Given the description of an element on the screen output the (x, y) to click on. 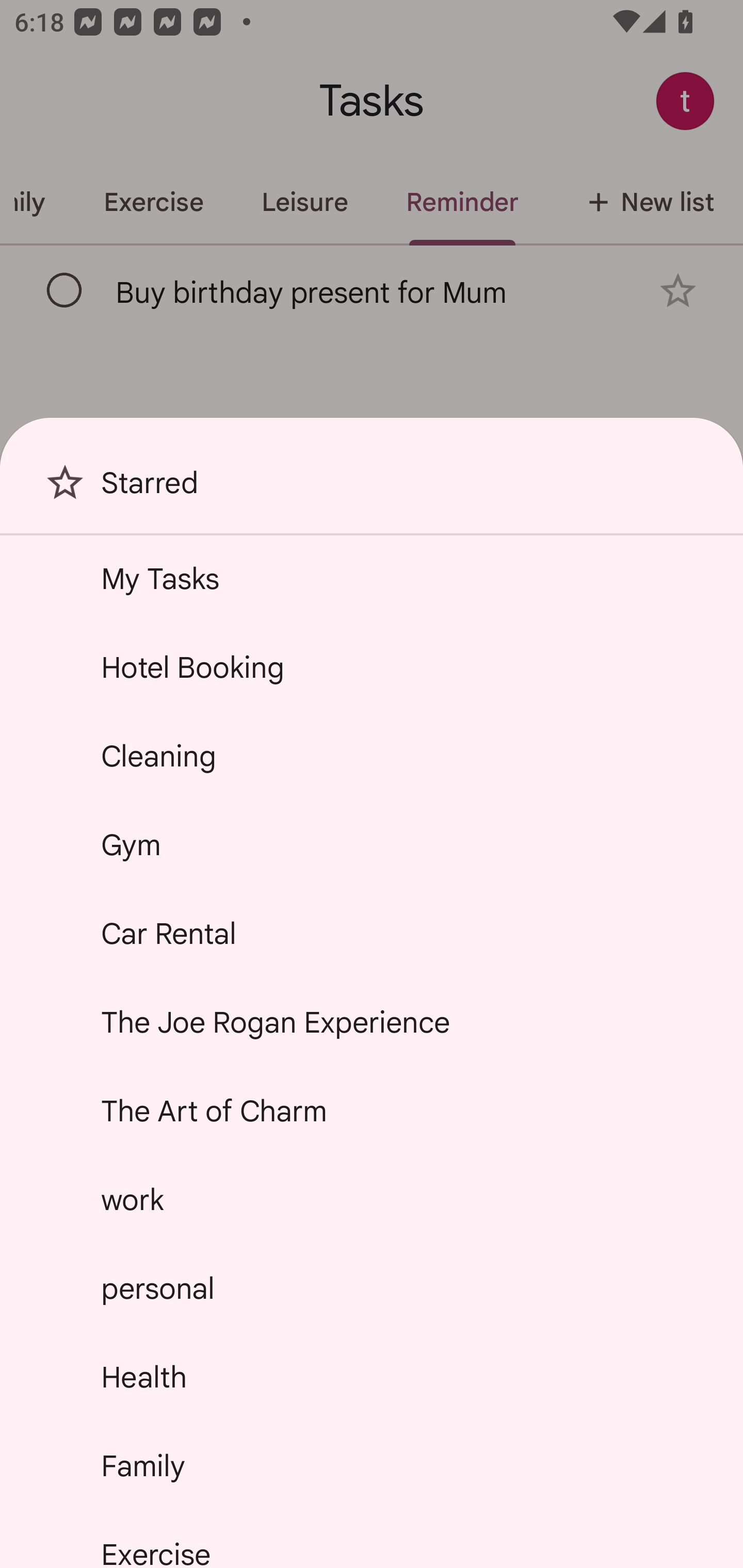
Starred (371, 489)
My Tasks (371, 578)
Hotel Booking (371, 667)
Cleaning (371, 756)
Gym (371, 844)
Car Rental (371, 933)
The Joe Rogan Experience (371, 1022)
The Art of Charm (371, 1110)
work (371, 1200)
personal (371, 1287)
Health (371, 1377)
Family (371, 1465)
Exercise (371, 1539)
